Given the description of an element on the screen output the (x, y) to click on. 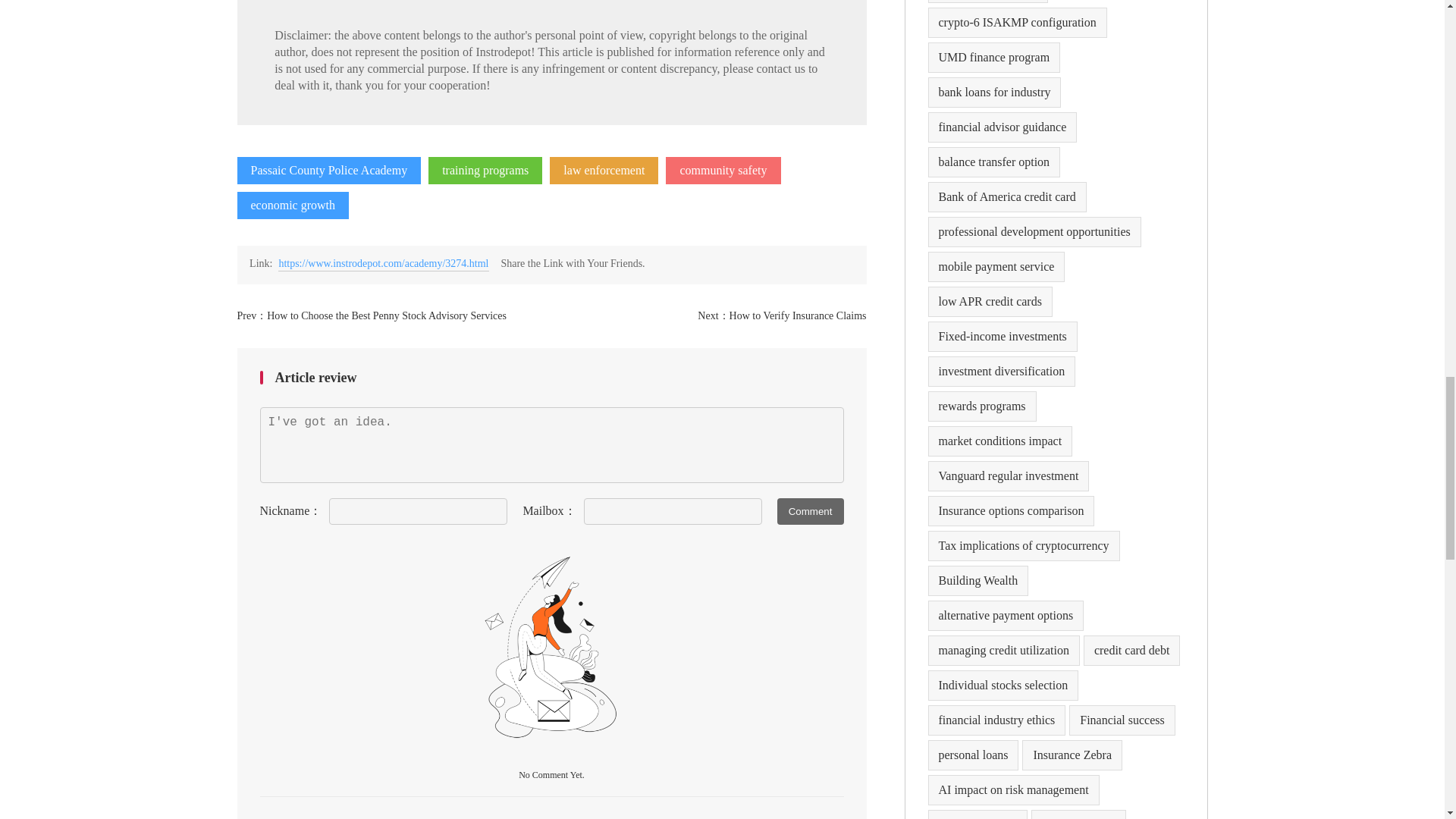
law enforcement (604, 170)
How to Verify Insurance Claims (797, 315)
economic growth (292, 205)
law enforcement (604, 170)
Passaic County Police Academy (327, 170)
training programs (484, 170)
Passaic County Police Academy (327, 170)
community safety (722, 170)
How to Choose the Best Penny Stock Advisory Services (386, 315)
community safety (722, 170)
economic growth (292, 205)
Comment (810, 510)
training programs (484, 170)
